Given the description of an element on the screen output the (x, y) to click on. 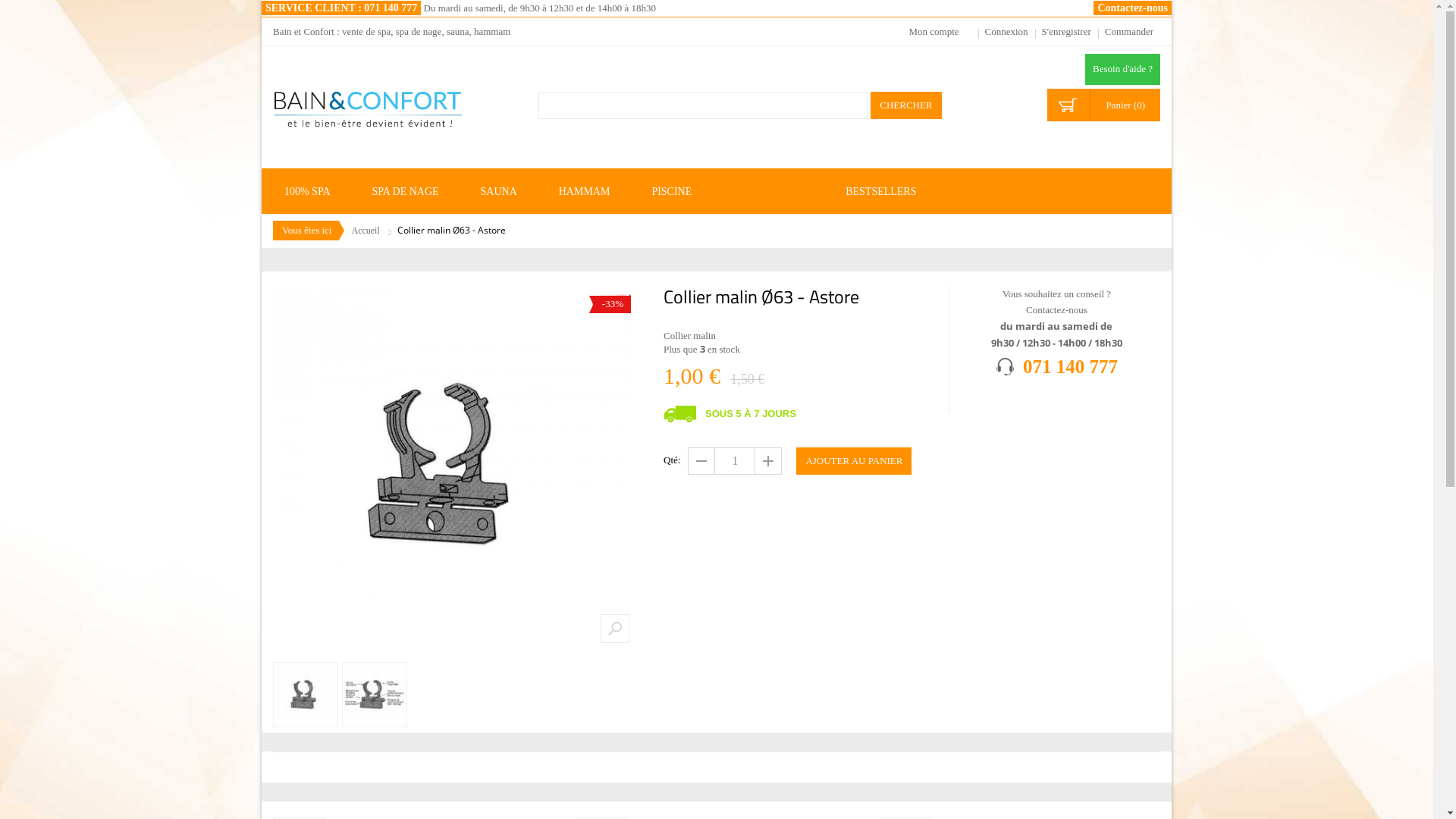
100% SPA Element type: text (316, 190)
AJOUTER AU PANIER Element type: text (853, 460)
SERVICE CLIENT : 071 140 777 Element type: text (340, 7)
- Element type: text (701, 460)
PISCINE Element type: text (680, 190)
SPA DE NAGE Element type: text (414, 190)
Commander Element type: text (1129, 30)
CHERCHER Element type: text (905, 105)
Bain et Confort Element type: hover (367, 117)
Connexion Element type: text (1006, 30)
HAMMAM Element type: text (593, 190)
Accueil Element type: text (365, 231)
Zoom Element type: text (614, 628)
BESTSELLERS Element type: text (890, 190)
+ Element type: text (767, 460)
SAUNA Element type: text (508, 190)
S'enregistrer Element type: text (1066, 30)
-33% Element type: text (451, 464)
Contactez-nous Element type: text (1132, 7)
Mon compte Element type: text (939, 30)
